Given the description of an element on the screen output the (x, y) to click on. 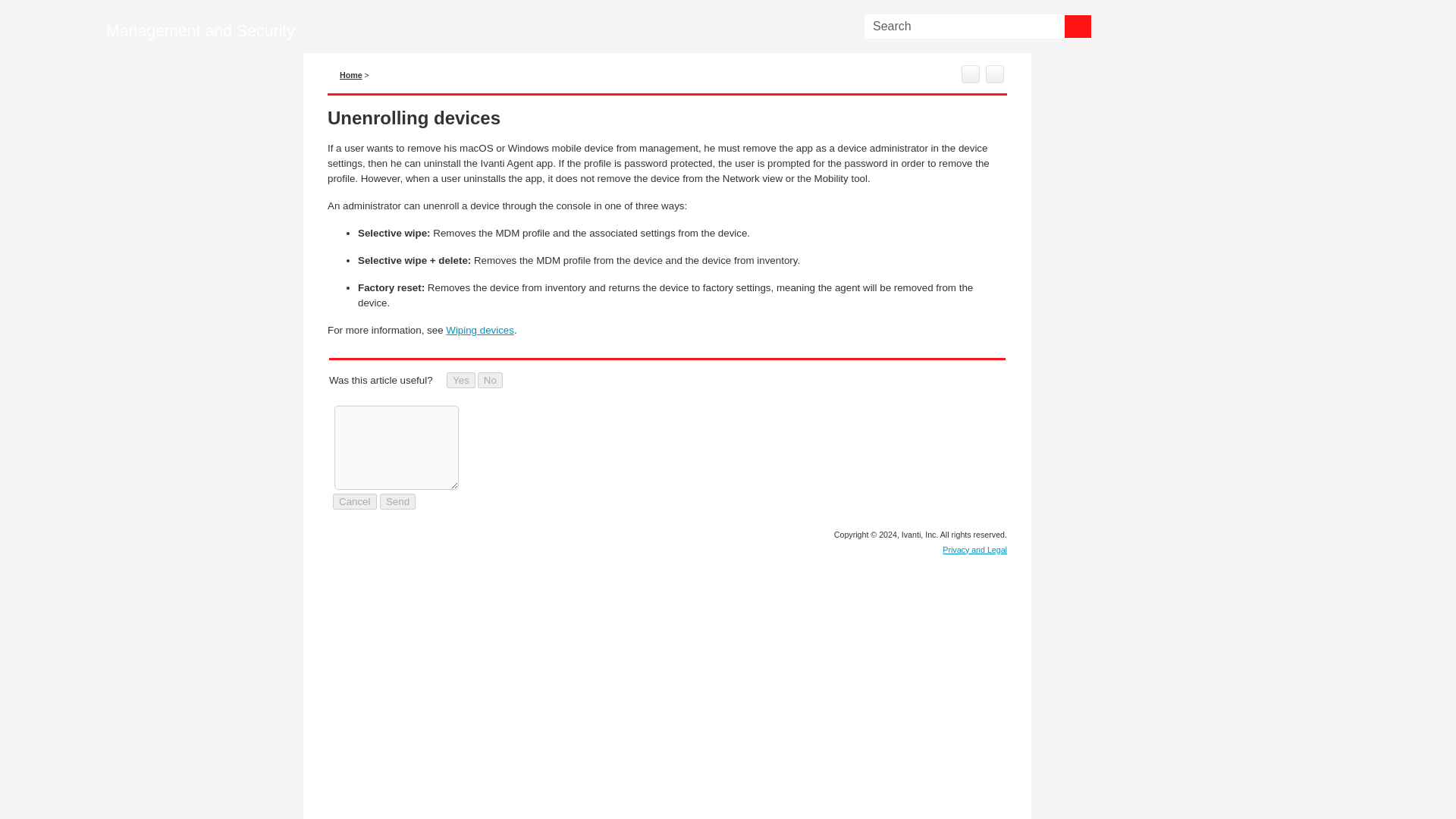
Send (397, 501)
Wiping devices (479, 329)
Privacy and Legal (974, 549)
Search (1078, 26)
No (489, 380)
Privacy and Legal (974, 549)
Expand all (994, 74)
Yes (461, 380)
Print (969, 74)
Cancel (355, 501)
